Given the description of an element on the screen output the (x, y) to click on. 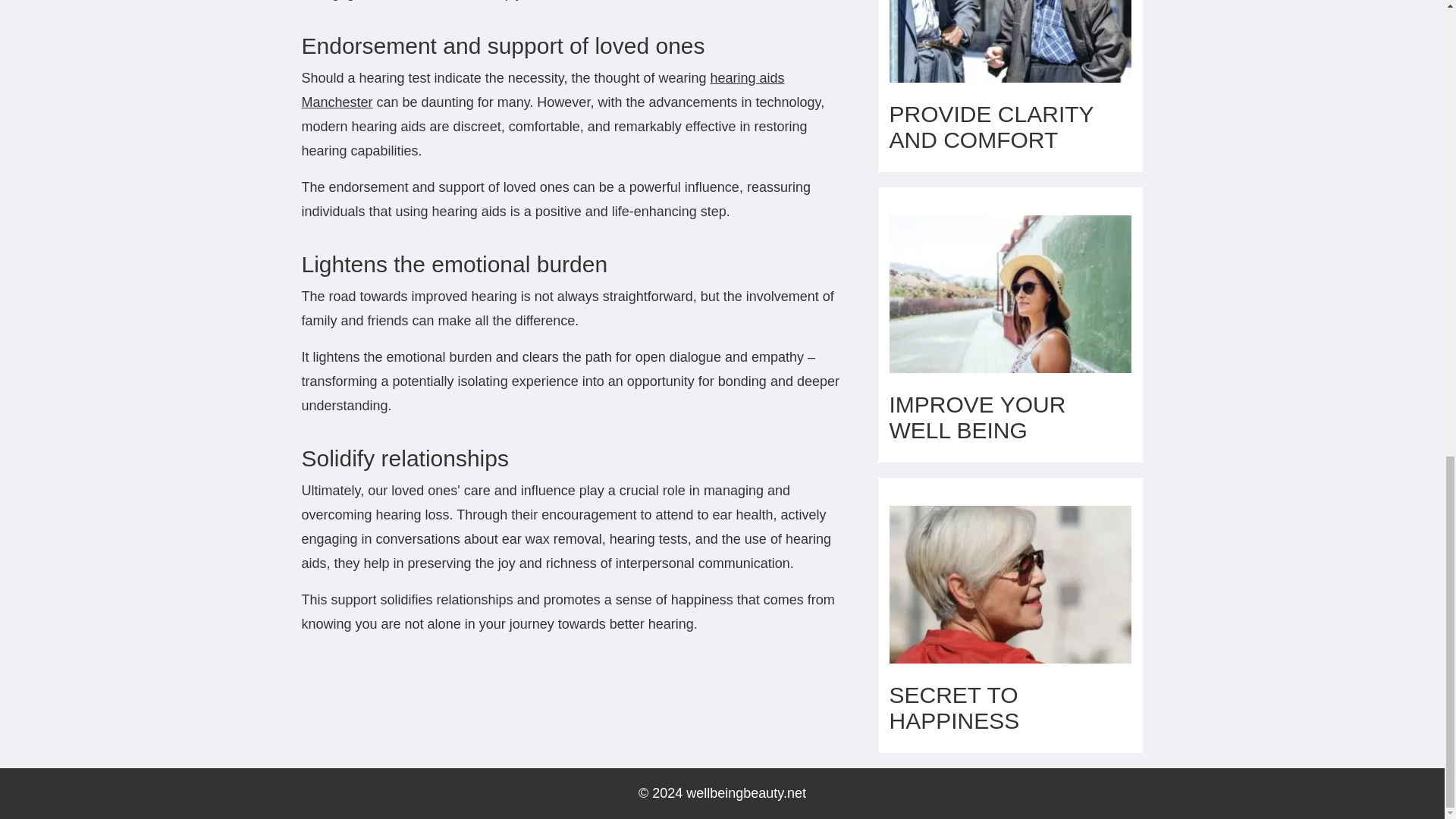
PROVIDE CLARITY AND COMFORT (990, 126)
IMPROVE YOUR WELL BEING (976, 417)
SECRET TO HAPPINESS (953, 707)
hearing aids Manchester (542, 89)
